Given the description of an element on the screen output the (x, y) to click on. 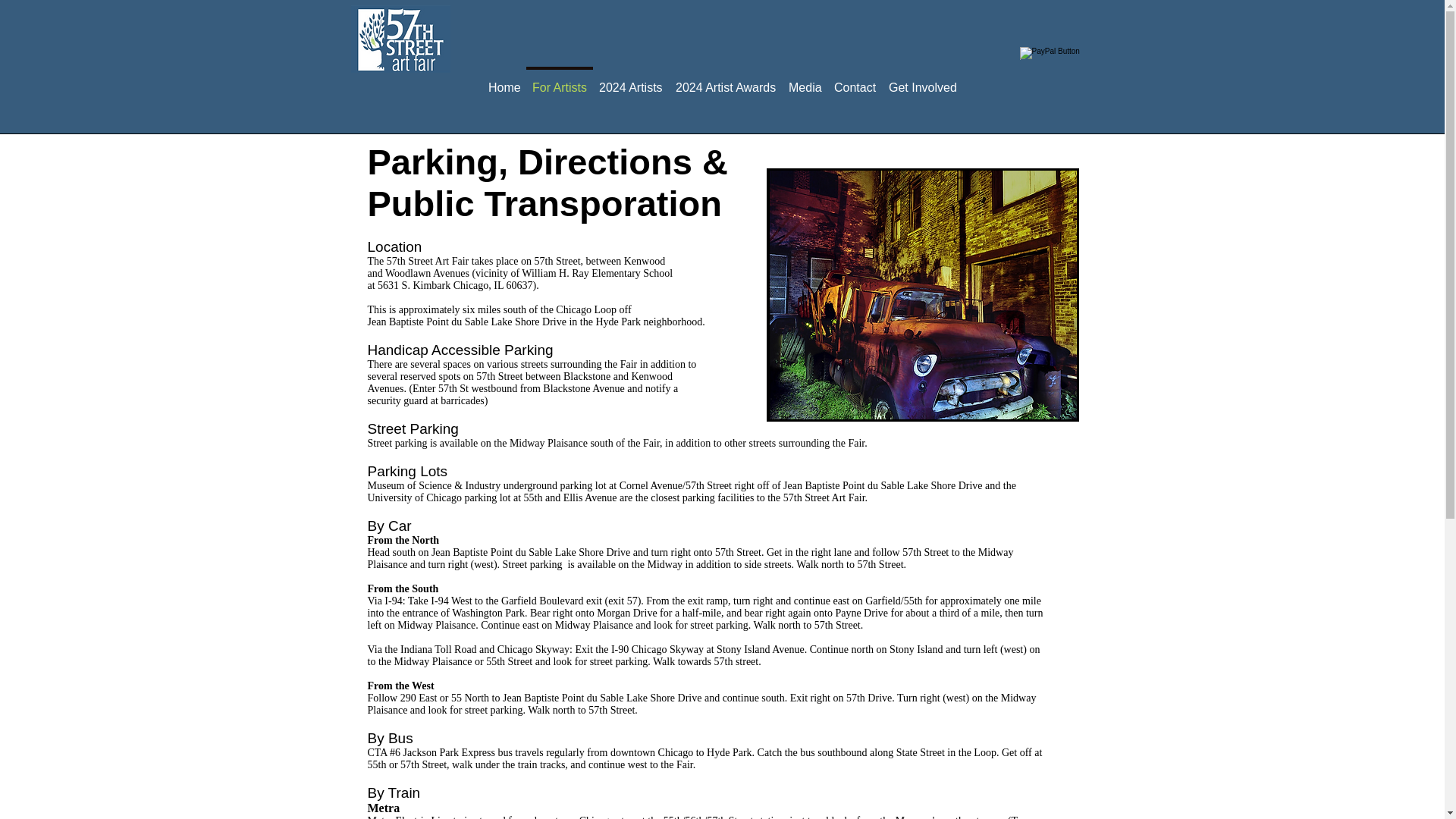
2024 Artist Awards (726, 80)
2024 Artists (630, 80)
Home (503, 80)
Contact (855, 80)
Media (805, 80)
Get Involved (922, 80)
For Artists (558, 80)
